Given the description of an element on the screen output the (x, y) to click on. 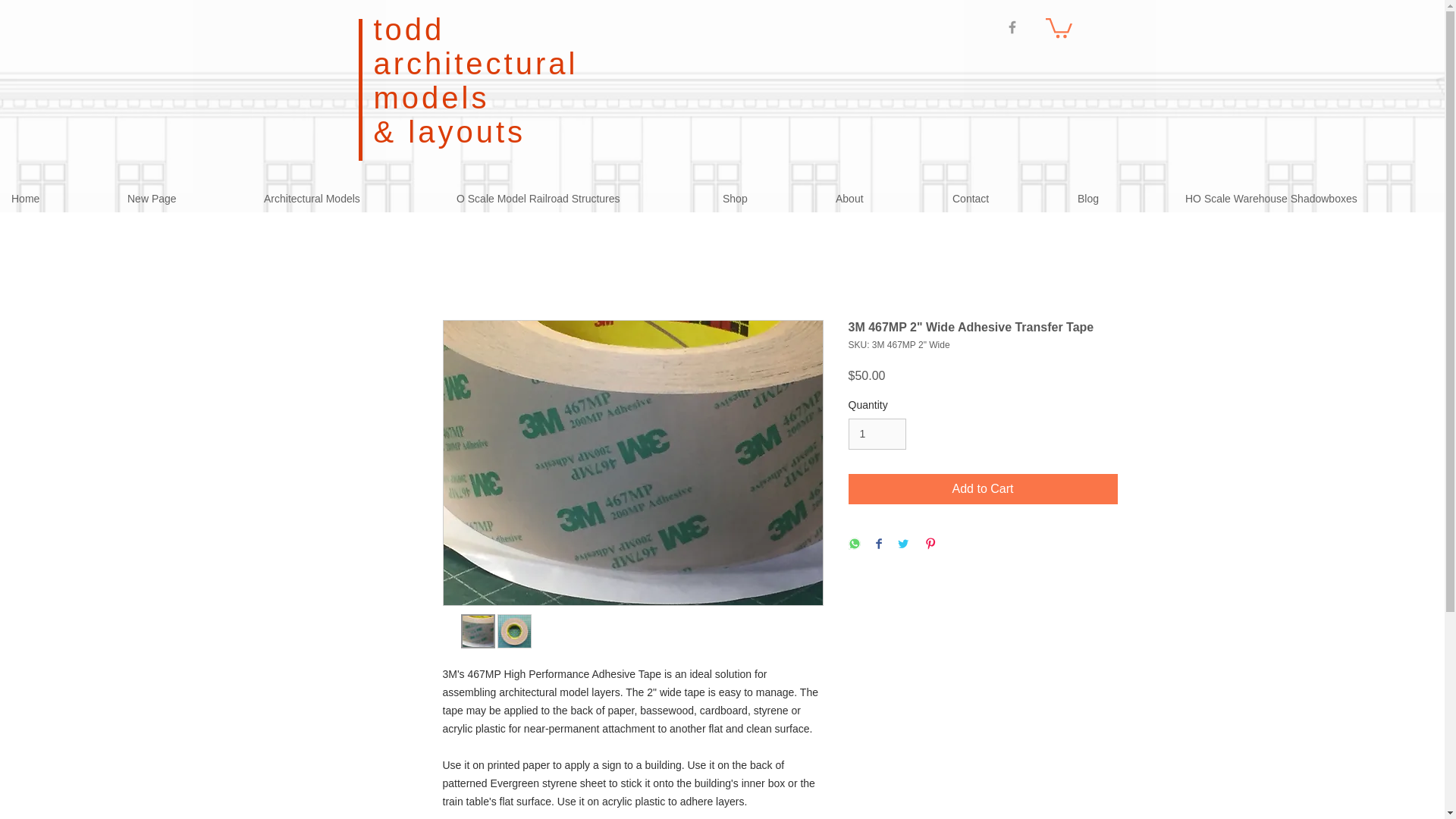
About (882, 198)
New Page (183, 198)
Architectural Models (348, 198)
O Scale Model Railroad Structures (578, 198)
architectural (475, 63)
Blog (1119, 198)
Home (58, 198)
todd (408, 29)
Shop (767, 198)
1 (876, 433)
